Given the description of an element on the screen output the (x, y) to click on. 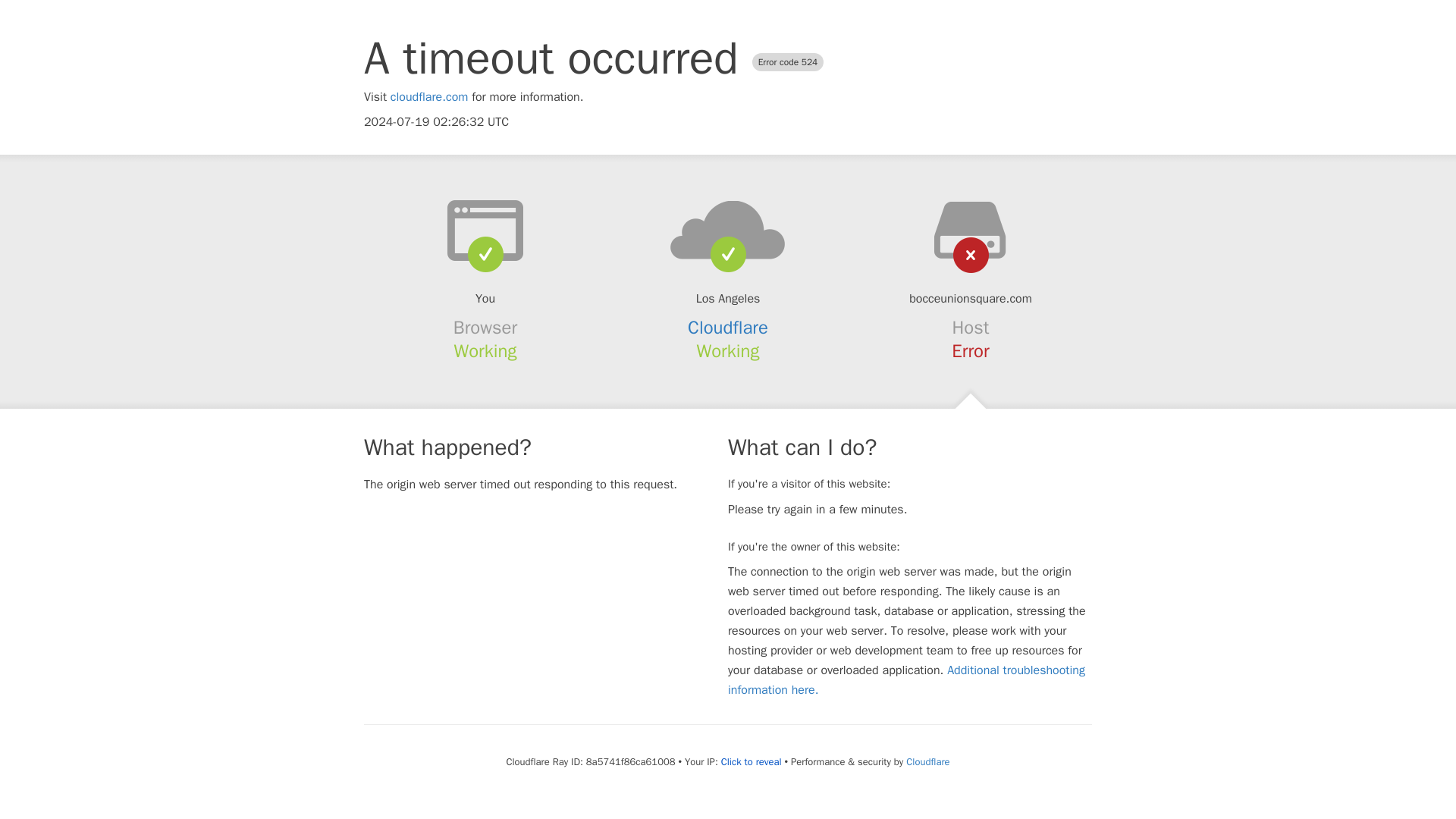
Click to reveal (750, 762)
Additional troubleshooting information here. (906, 679)
cloudflare.com (429, 96)
Cloudflare (927, 761)
Cloudflare (727, 327)
